Given the description of an element on the screen output the (x, y) to click on. 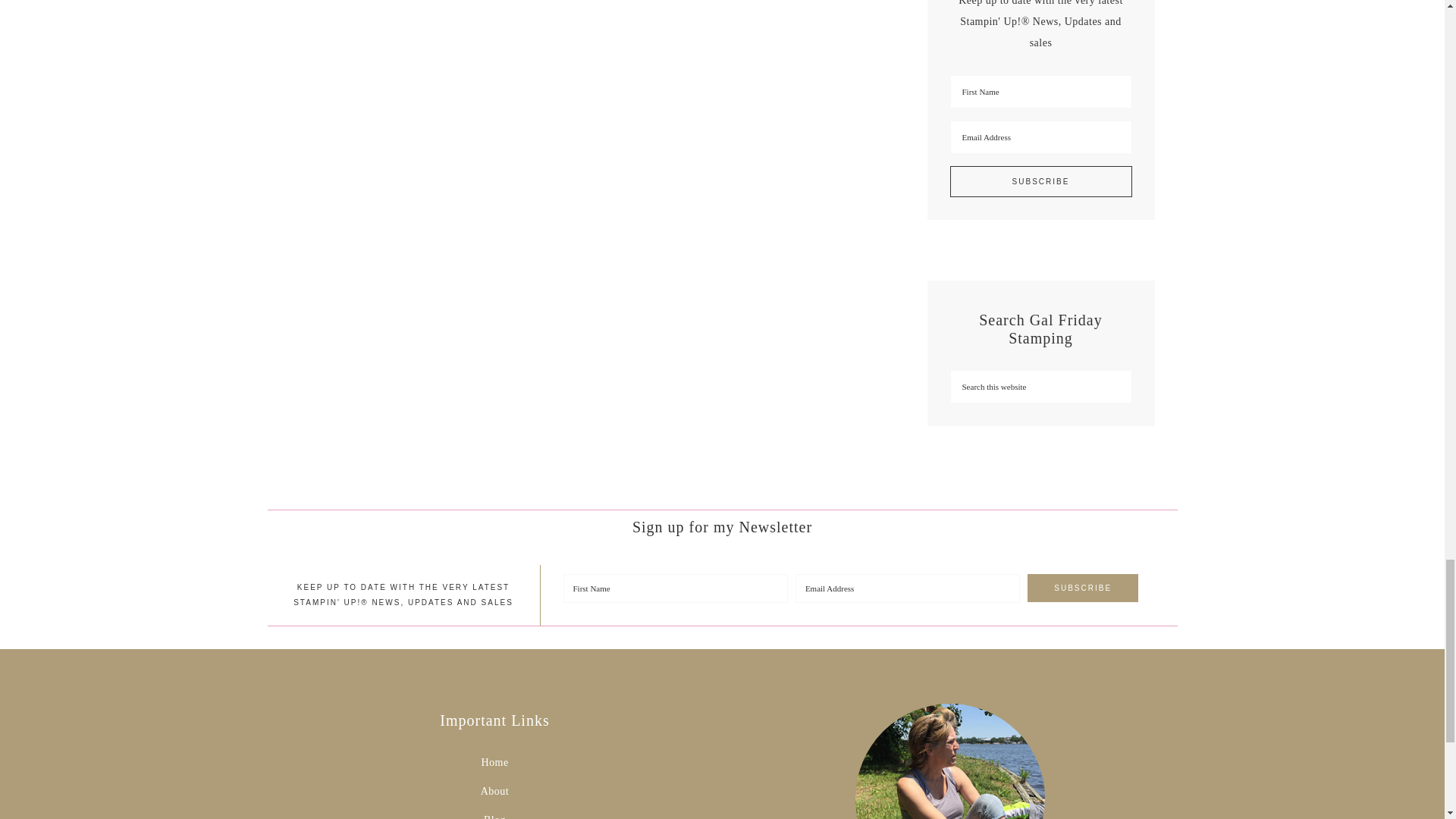
Subscribe (1082, 587)
Subscribe (1040, 181)
